Given the description of an element on the screen output the (x, y) to click on. 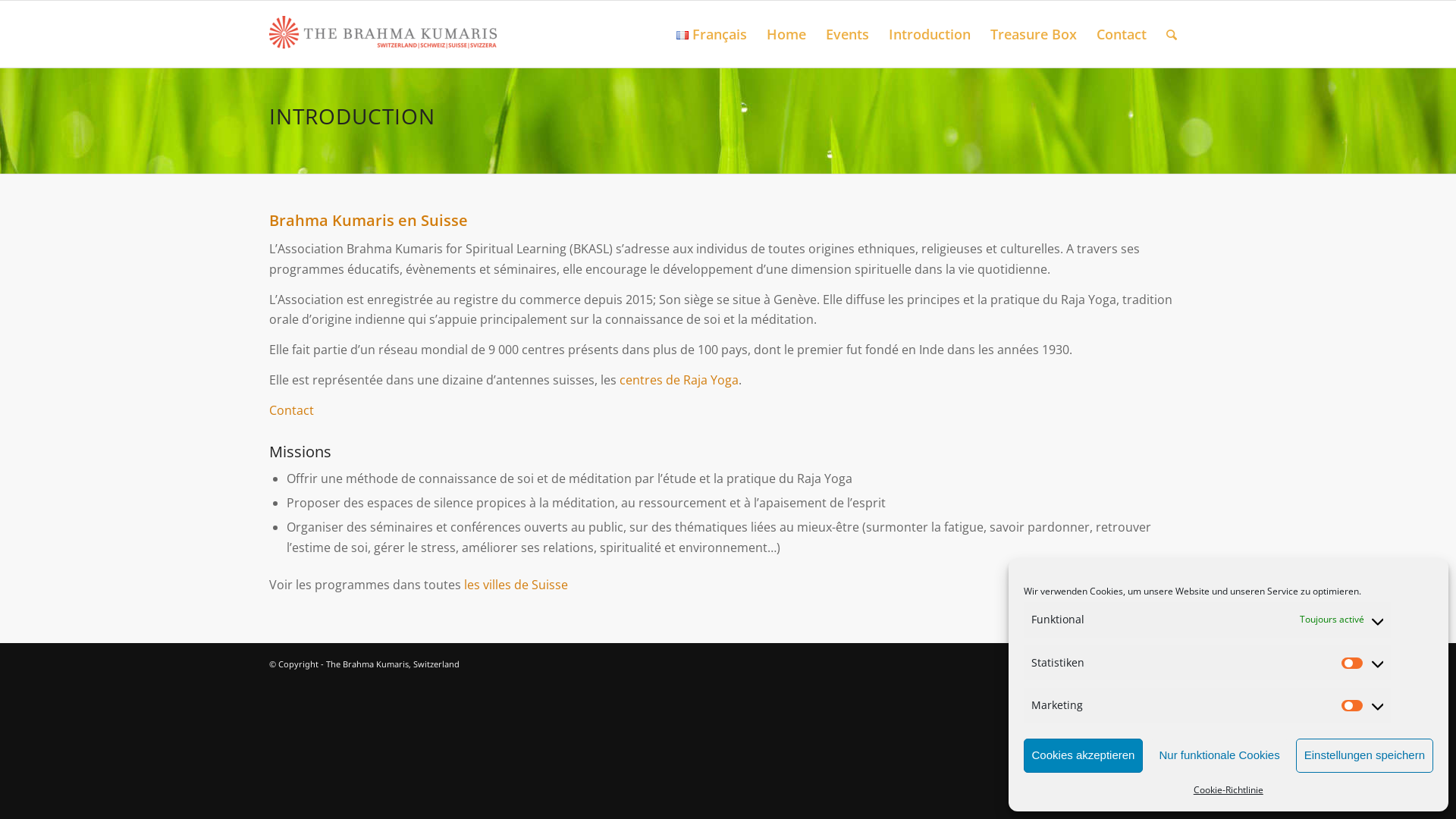
Cookie-Richtlinie Element type: text (1228, 790)
centres de Raja Yoga Element type: text (678, 379)
Treasure Box Element type: text (1033, 33)
Contact Element type: text (1121, 33)
Einstellungen speichern Element type: text (1364, 755)
Contact Element type: text (291, 409)
Nur funktionale Cookies Element type: text (1218, 755)
Home Element type: text (785, 33)
Cookies akzeptieren Element type: text (1083, 755)
Introduction Element type: text (929, 33)
les villes de Suisse Element type: text (515, 584)
Events Element type: text (846, 33)
Imprint Element type: text (1171, 663)
